Given the description of an element on the screen output the (x, y) to click on. 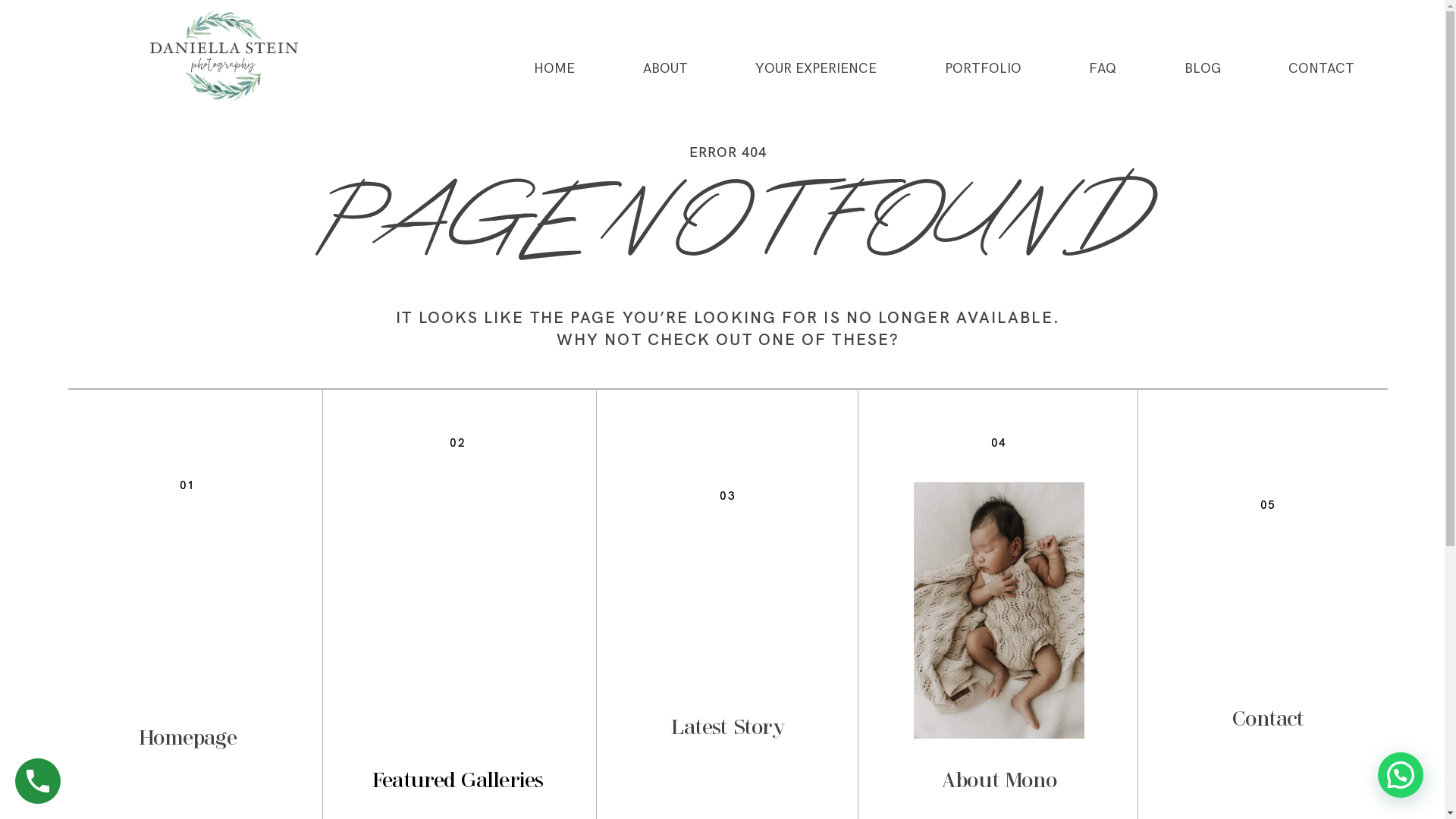
CONTACT Element type: text (1321, 68)
PORTFOLIO Element type: text (982, 68)
FAQ Element type: text (1102, 68)
ABOUT Element type: text (665, 68)
YOUR EXPERIENCE Element type: text (815, 68)
HOME Element type: text (553, 68)
BLOG Element type: text (1202, 68)
